Given the description of an element on the screen output the (x, y) to click on. 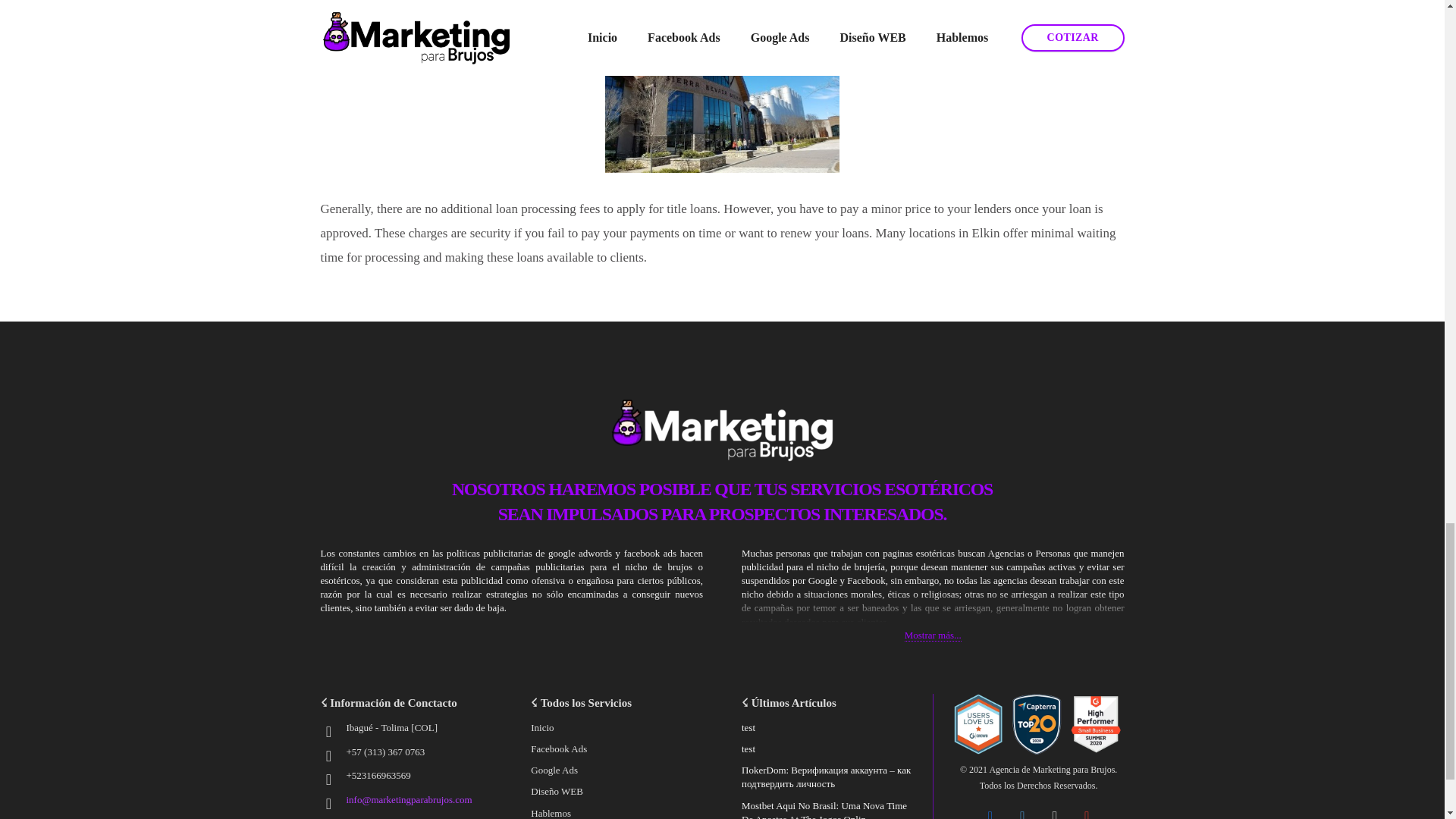
Inicio (542, 727)
Google Ads (554, 769)
Facebook (990, 809)
Google (1086, 809)
test (748, 748)
Hablemos (550, 813)
Instagram (1055, 809)
Twitter (1022, 809)
Facebook Ads (558, 748)
